Given the description of an element on the screen output the (x, y) to click on. 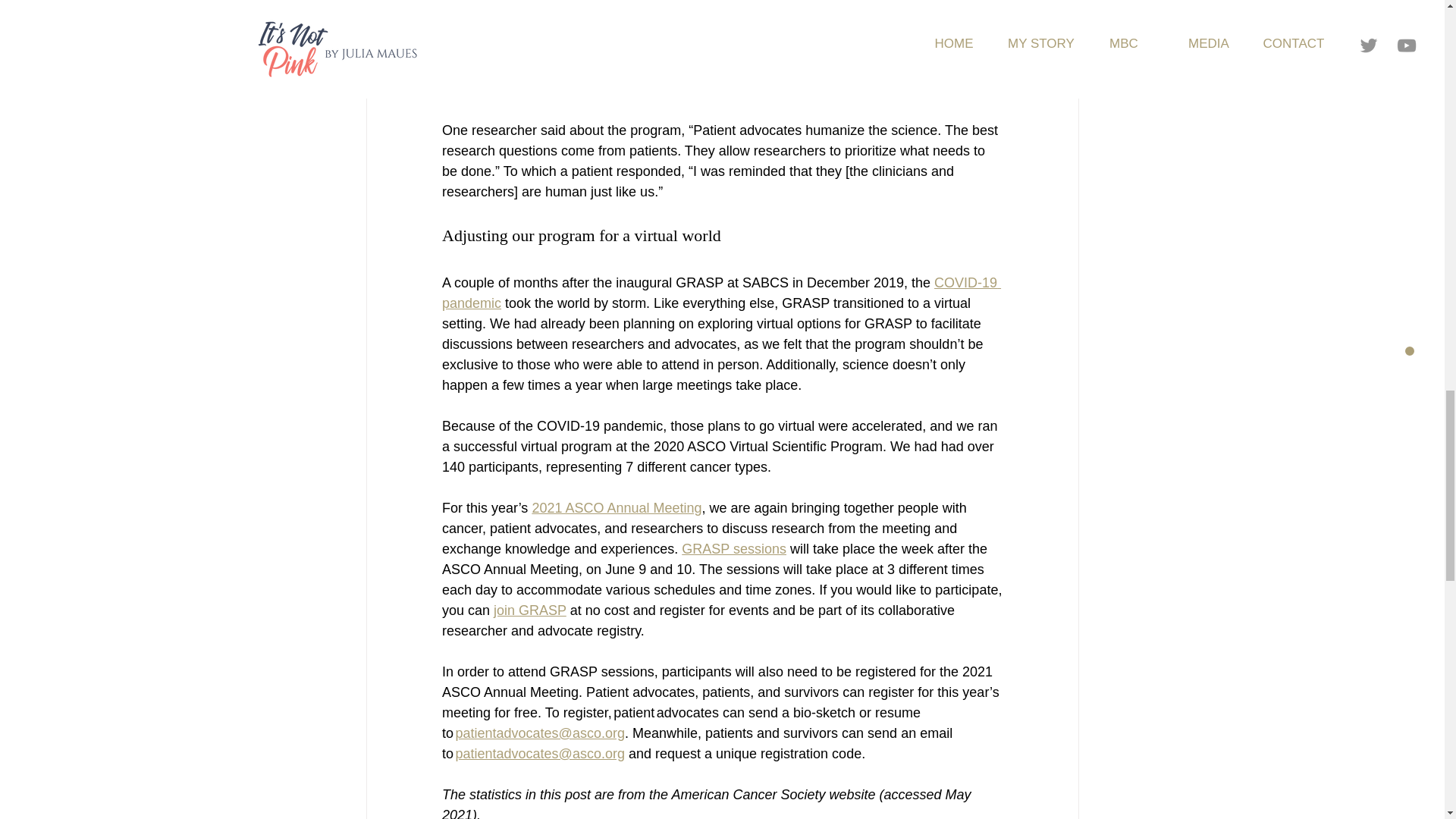
GRASP sessions (733, 548)
2021 ASCO Annual Meeting (616, 507)
COVID-19 pandemic (720, 293)
join GRASP (529, 610)
